Given the description of an element on the screen output the (x, y) to click on. 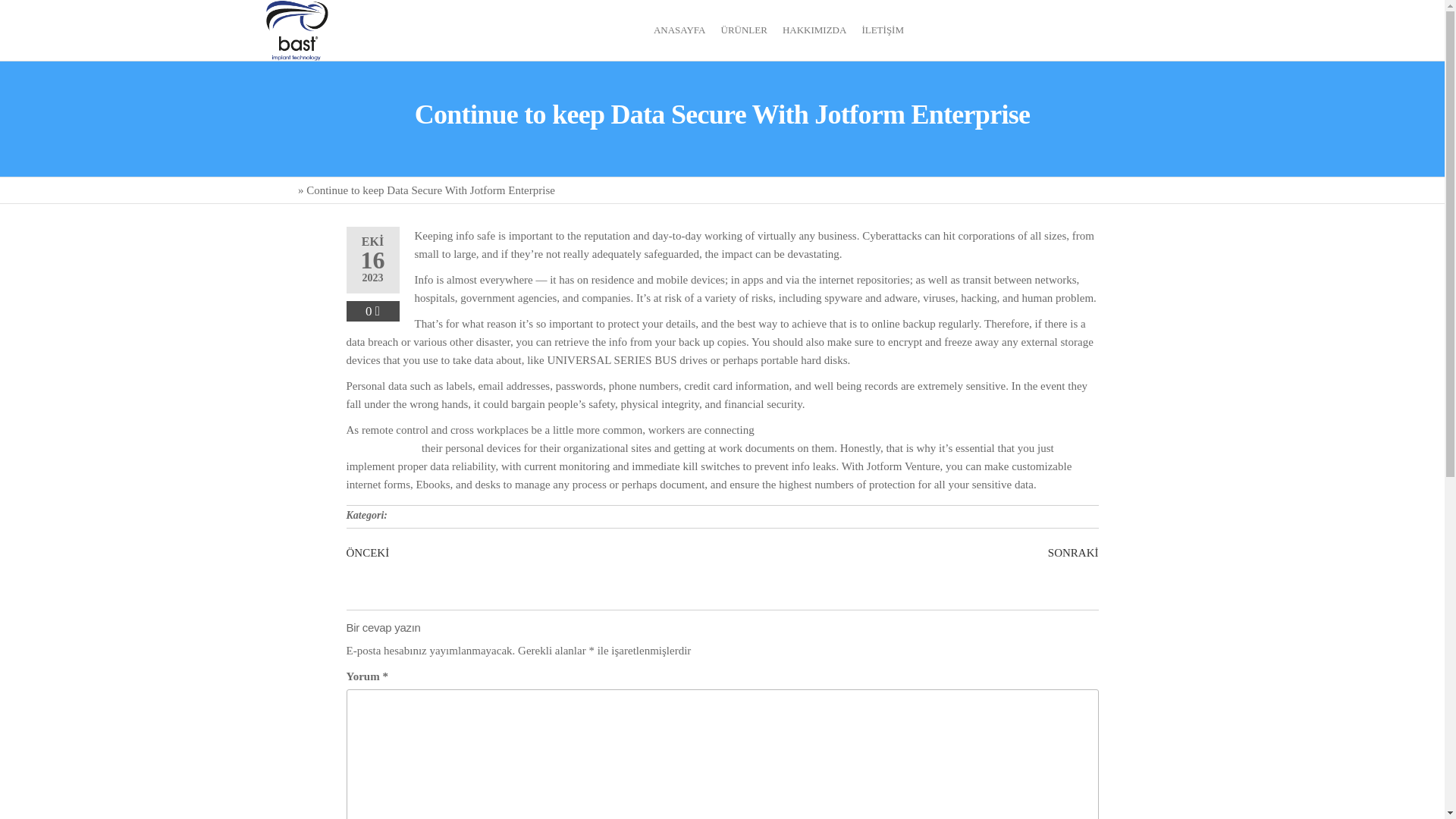
HAKKIMIZDA (814, 30)
Uncategorized (425, 514)
HAKKIMIZDA (814, 30)
Anasayfa (273, 190)
ANASAYFA (679, 30)
ANASAYFA (679, 30)
